Given the description of an element on the screen output the (x, y) to click on. 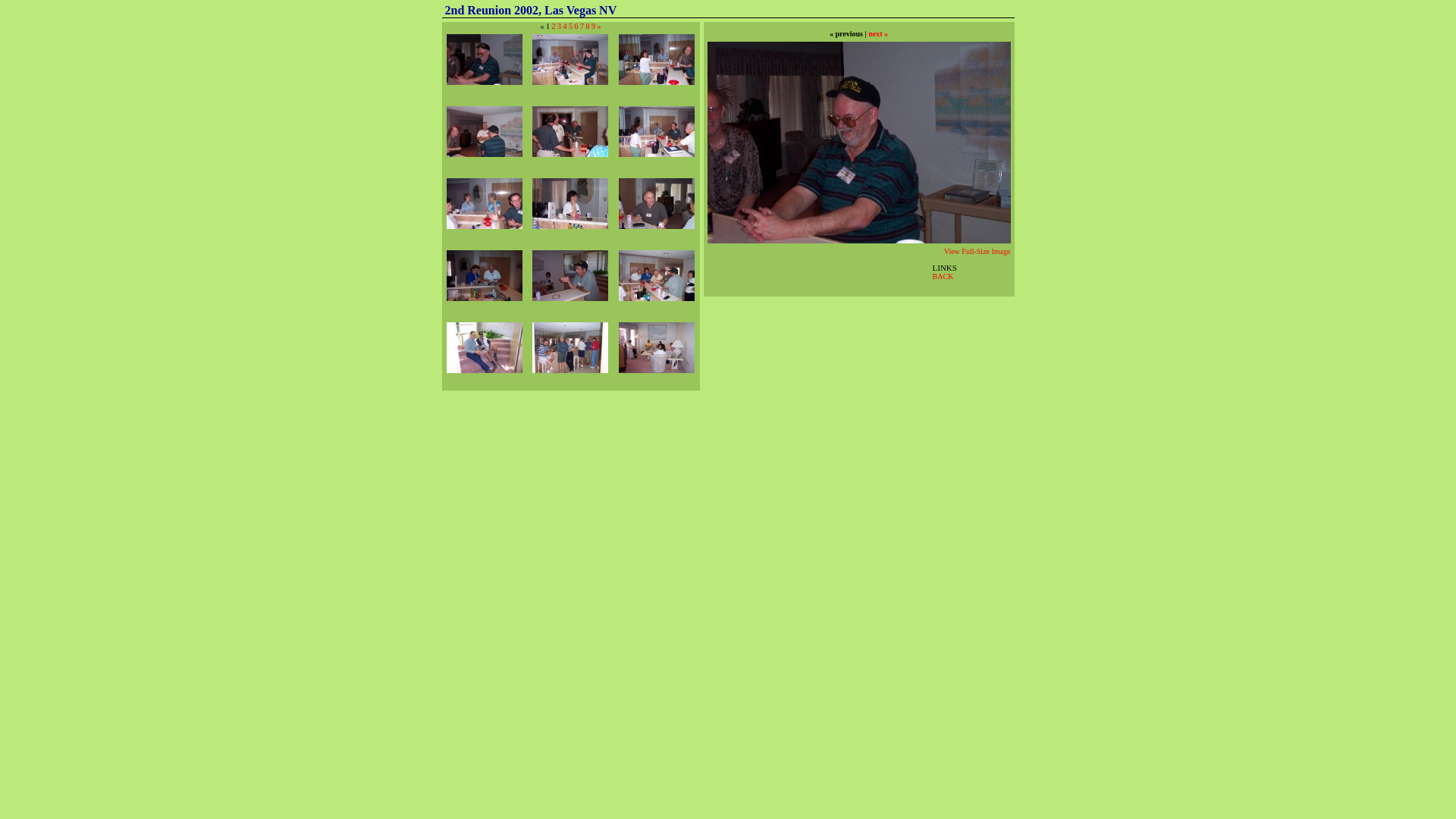
BACK Element type: text (942, 276)
2 Element type: text (553, 25)
View Full-Size Image Element type: text (977, 251)
6 Element type: text (576, 25)
9 Element type: text (593, 25)
5 Element type: text (570, 25)
3 Element type: text (559, 25)
4 Element type: text (564, 25)
7 Element type: text (581, 25)
8 Element type: text (587, 25)
